Given the description of an element on the screen output the (x, y) to click on. 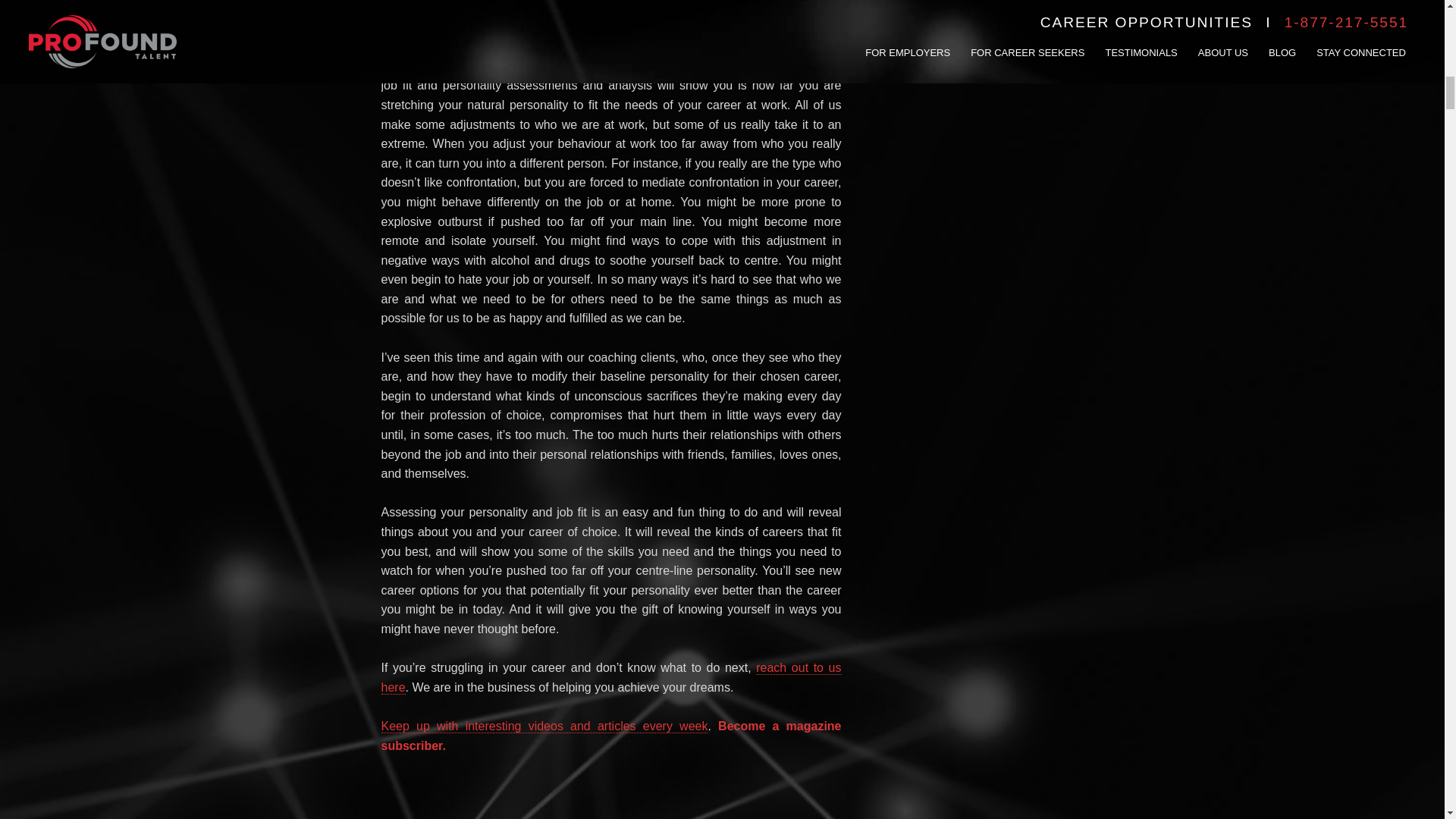
reach out to us here (610, 677)
Keep up with interesting videos and articles every week (543, 726)
